Given the description of an element on the screen output the (x, y) to click on. 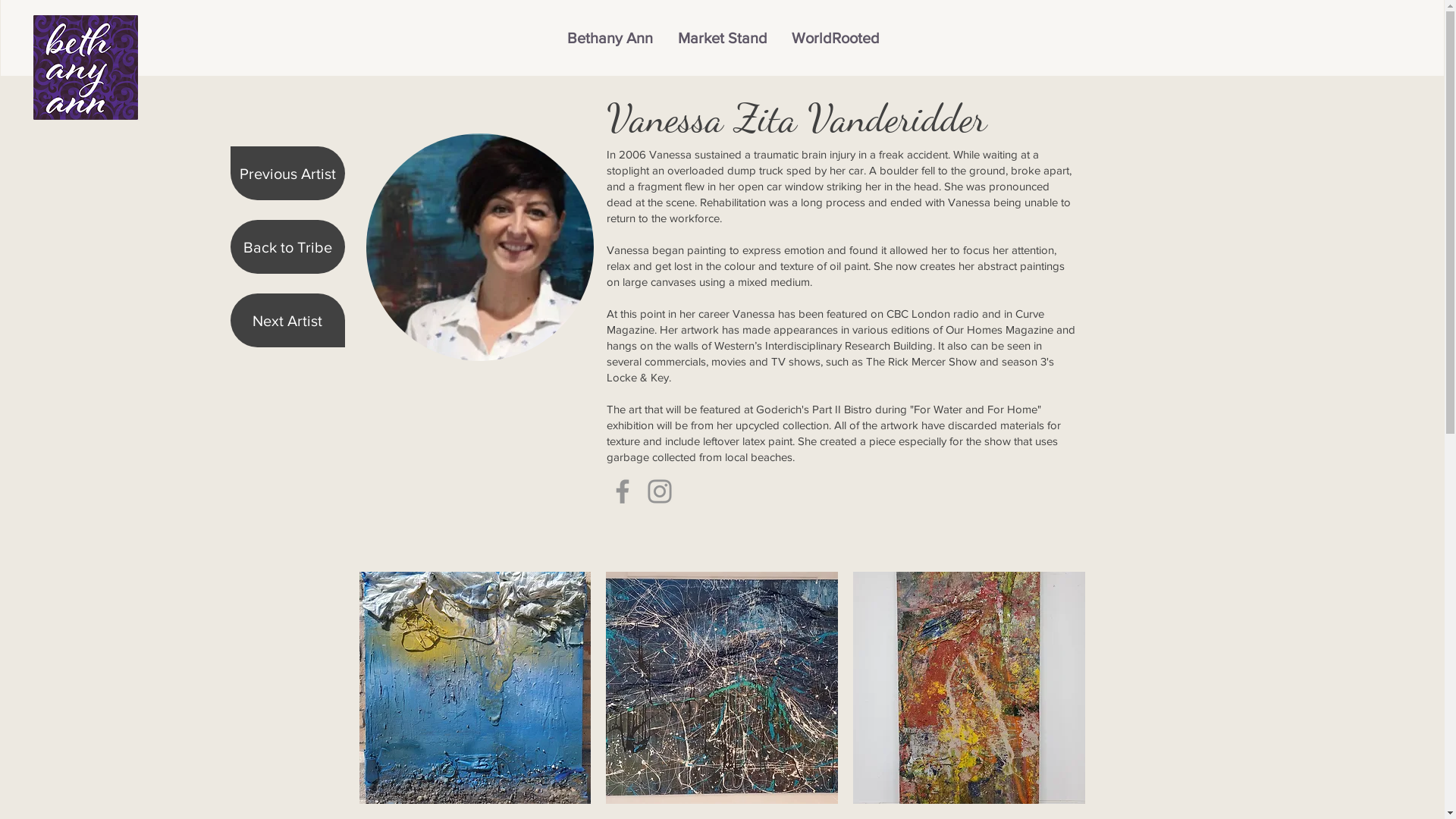
WorldRooted Element type: text (834, 37)
Next Artist Element type: text (287, 320)
Market Stand Element type: text (721, 37)
Back to Tribe Element type: text (287, 246)
Bethany Ann Element type: text (608, 37)
Previous Artist Element type: text (287, 173)
